Given the description of an element on the screen output the (x, y) to click on. 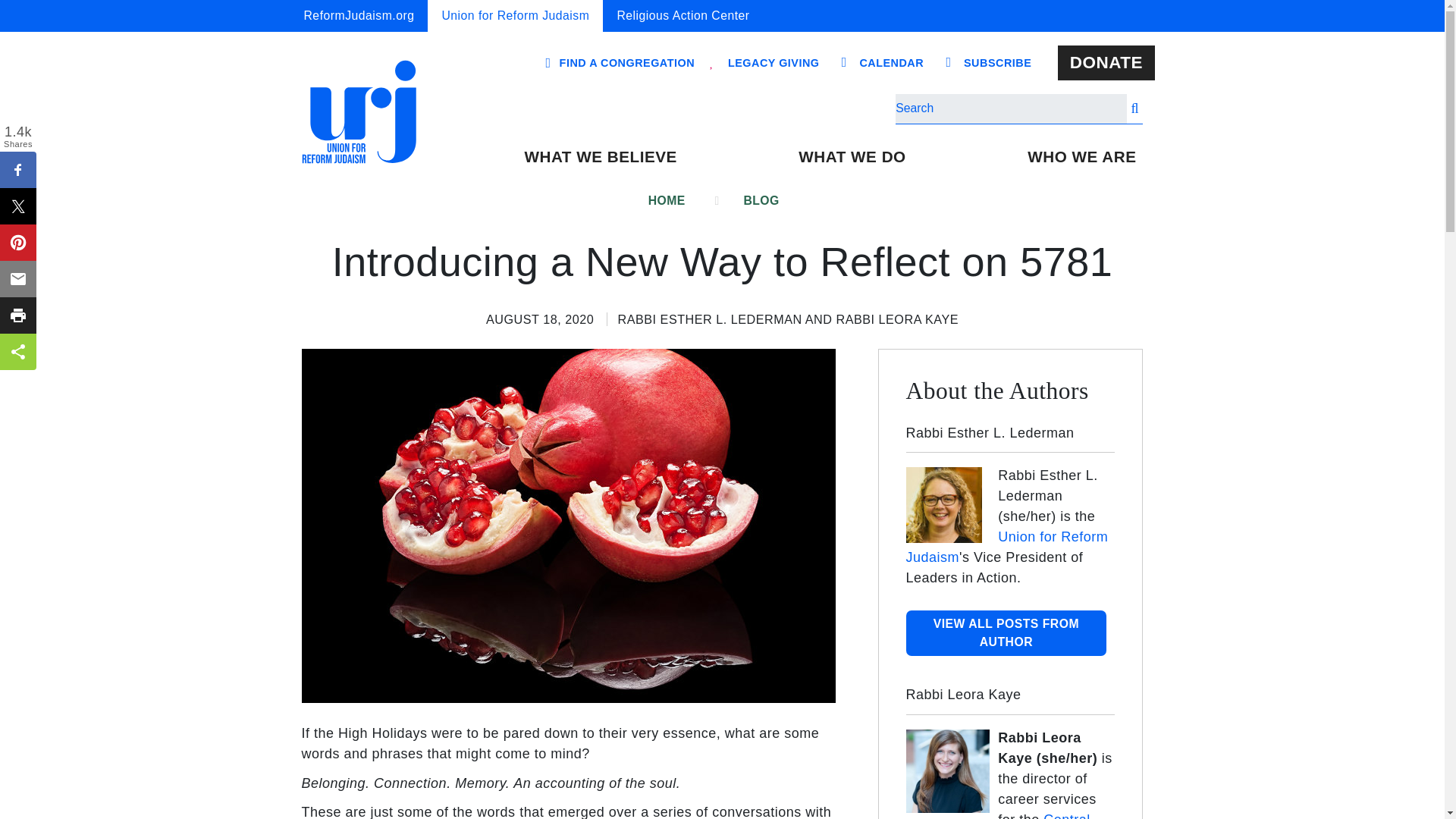
LEGACY GIVING (773, 63)
CALENDAR (891, 63)
SUBSCRIBE (997, 63)
ReformJudaism.org (358, 15)
WHAT WE DO (852, 156)
WHAT WE BELIEVE (599, 156)
DONATE (1106, 63)
Religious Action Center (682, 15)
FIND A CONGREGATION (626, 62)
Union for Reform Judaism (515, 15)
WHO WE ARE (1081, 156)
Skip to main content (721, 1)
